Given the description of an element on the screen output the (x, y) to click on. 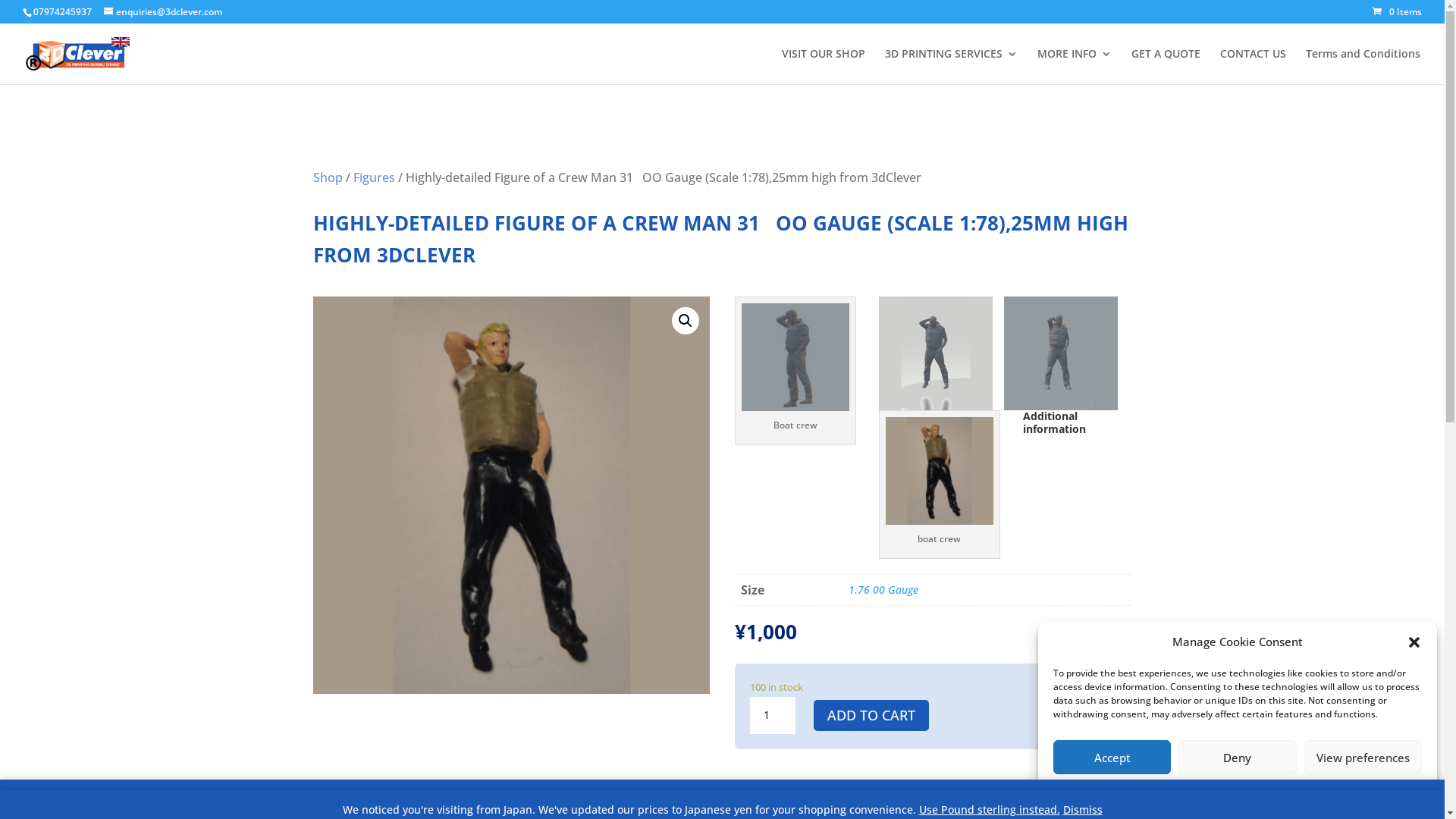
3D PRINTING SERVICES Element type: text (950, 66)
Privacy Policy Element type: text (1268, 790)
View preferences Element type: text (1362, 757)
CONTACT US Element type: text (1253, 66)
Cookie Policy Element type: text (1204, 790)
Use Pound sterling instead. Element type: text (989, 809)
enquiries@3dclever.com Element type: text (162, 11)
Dismiss Element type: text (1082, 809)
VISIT OUR SHOP Element type: text (823, 66)
Terms and Conditions Element type: text (1362, 66)
MORE INFO Element type: text (1074, 66)
0 Items Element type: text (1396, 11)
crew man Element type: hover (510, 494)
1.76 00 Gauge Element type: text (883, 589)
Dismiss Element type: text (915, 798)
GET A QUOTE Element type: text (1165, 66)
Figures Element type: text (374, 177)
Deny Element type: text (1236, 757)
Shop Element type: text (327, 177)
ADD TO CART Element type: text (870, 715)
Accept Element type: text (1111, 757)
